Given the description of an element on the screen output the (x, y) to click on. 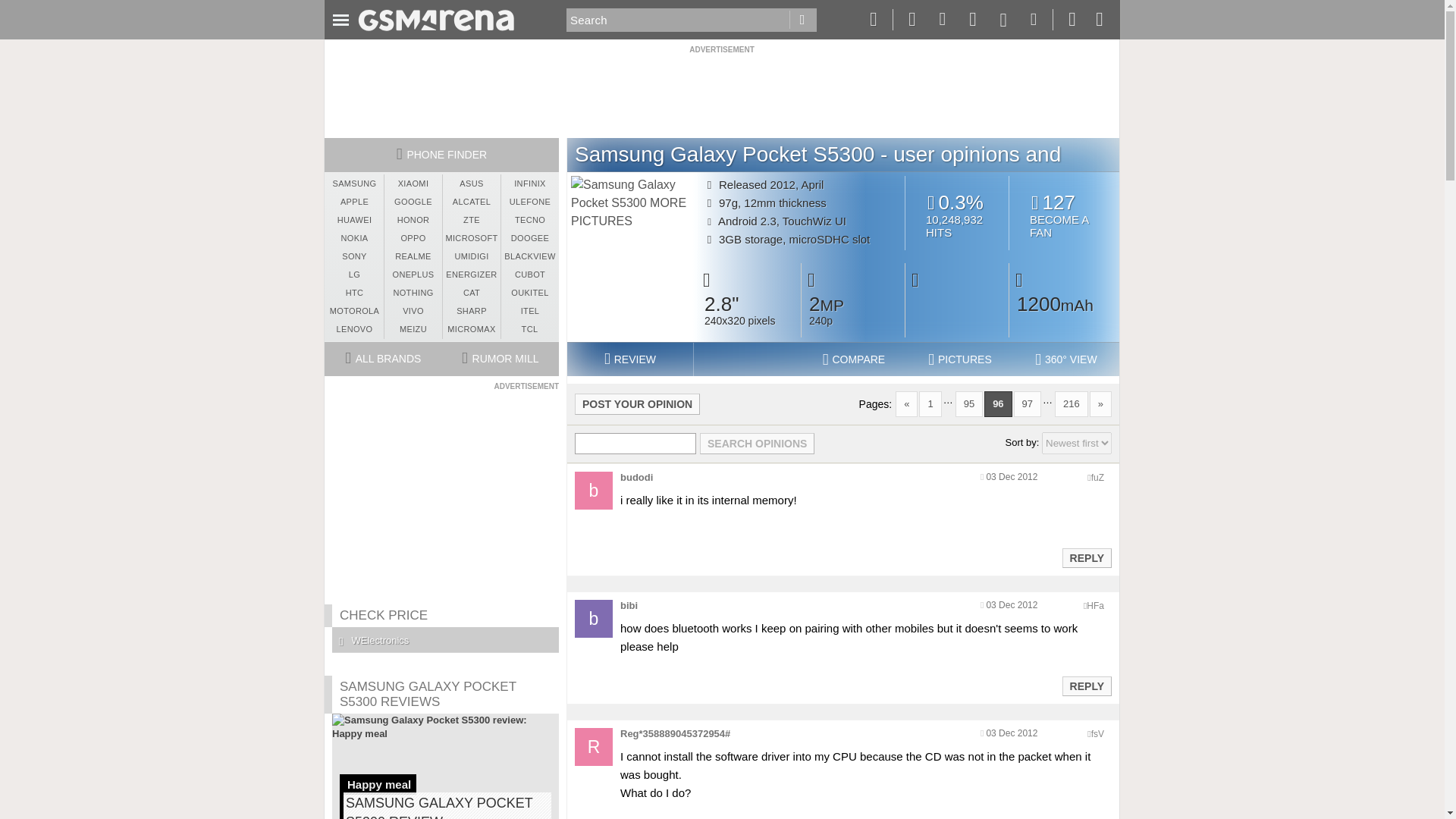
1 (929, 403)
Reply to this post (1086, 558)
Previous page (906, 403)
REVIEW (630, 359)
97 (1027, 403)
Encoded anonymized location (1094, 605)
95 (968, 403)
216 (1070, 403)
Next page (1100, 403)
Sort comments by (1077, 443)
Encoded anonymized location (1096, 733)
Reply to this post (1086, 686)
Encoded anonymized location (1096, 477)
Go (802, 19)
